Given the description of an element on the screen output the (x, y) to click on. 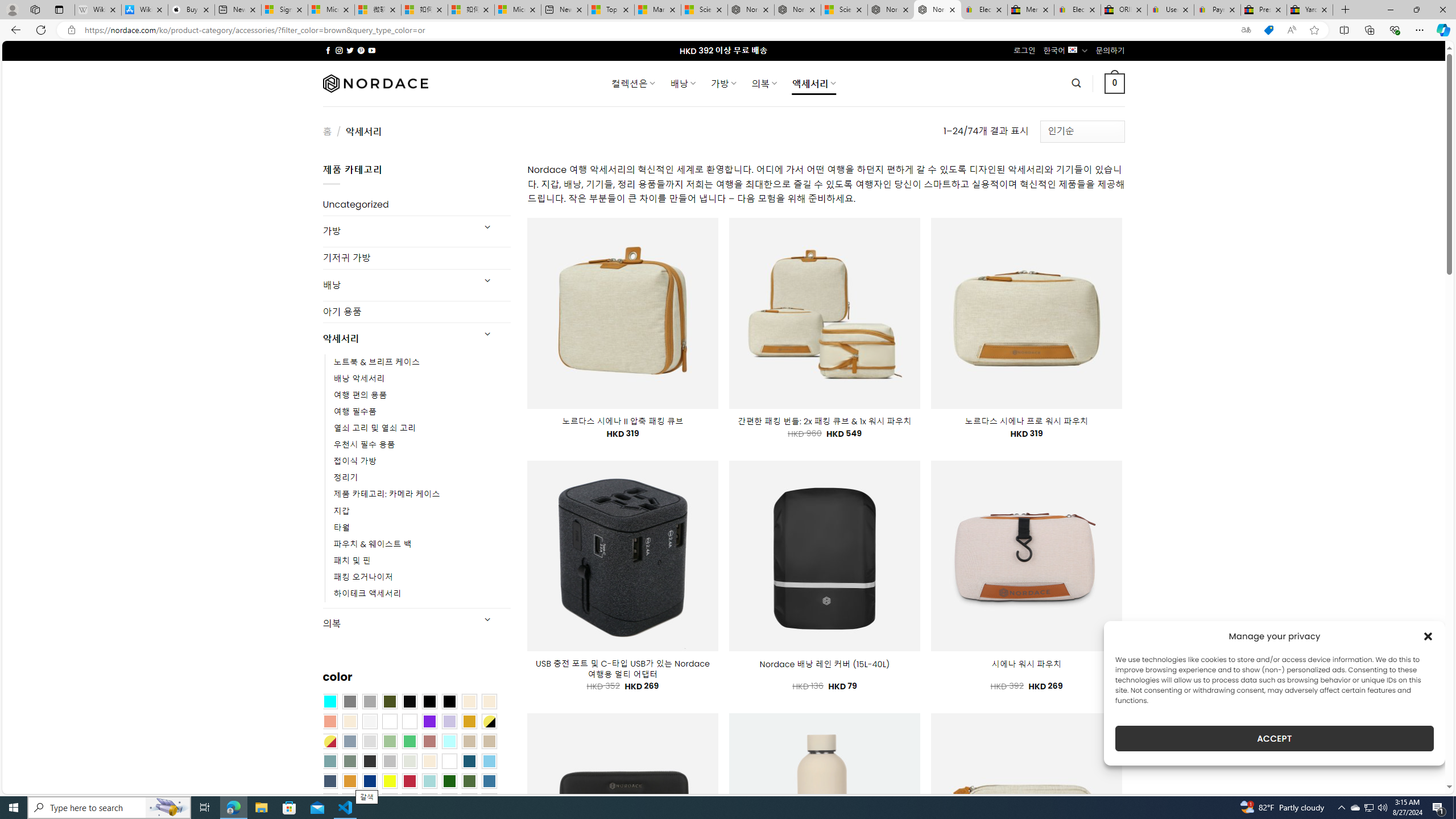
Top Stories - MSN (610, 9)
Class: cmplz-close (1428, 636)
Purple (429, 721)
Yard, Garden & Outdoor Living (1309, 9)
